Given the description of an element on the screen output the (x, y) to click on. 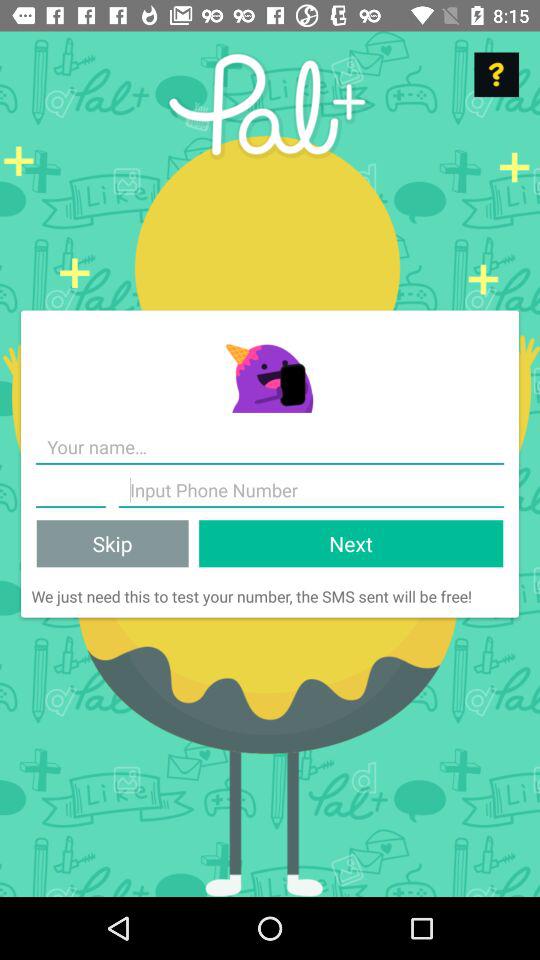
turn off the icon above we just need icon (112, 543)
